Given the description of an element on the screen output the (x, y) to click on. 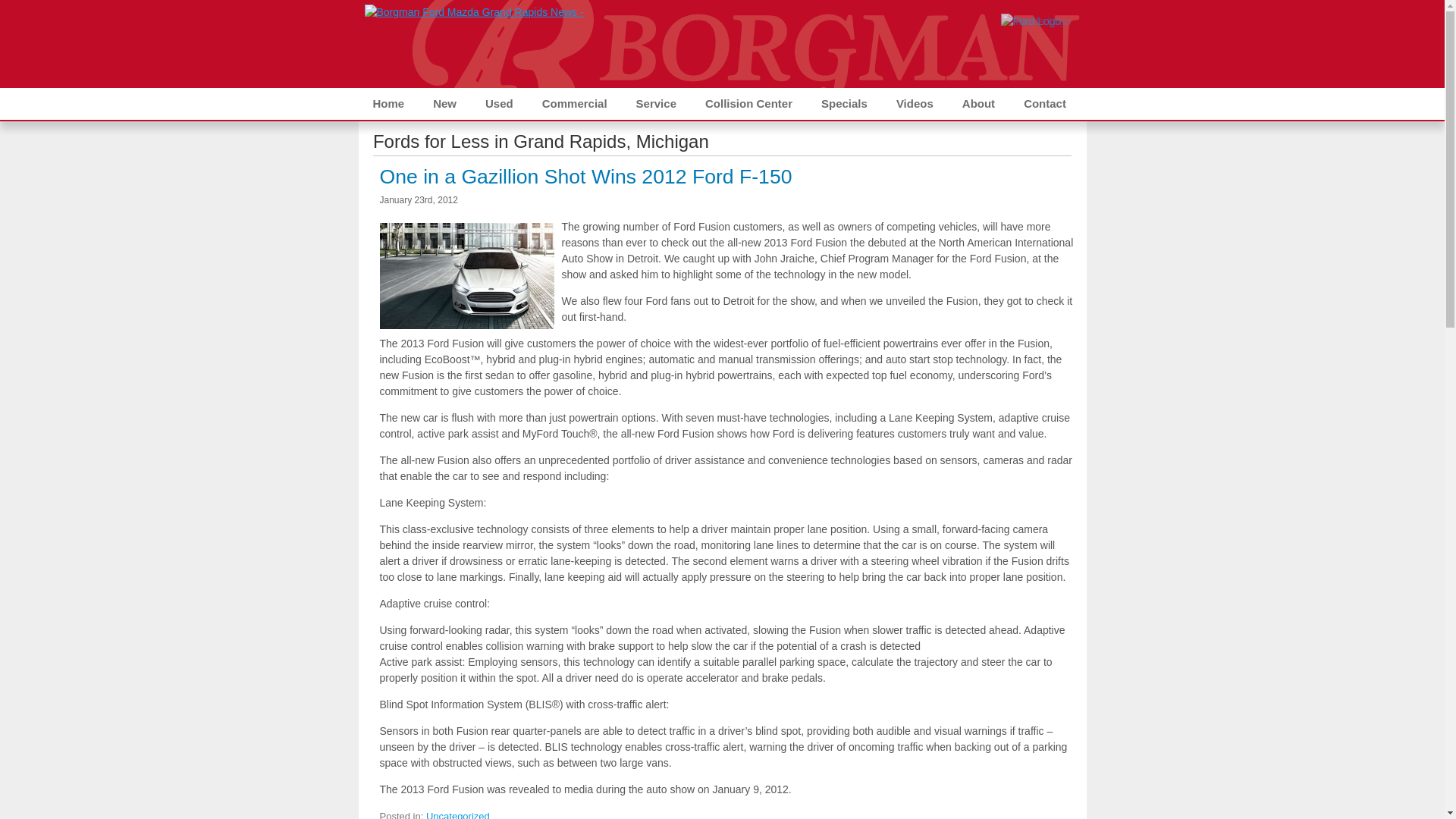
Fords for Less in Grand Rapids, Michigan (540, 141)
Service (655, 103)
first-look-at-the-2013-ford-fusion (465, 276)
Videos (914, 103)
Contact (1044, 103)
Borgman Ford Mazda Grand Rapids News -  (473, 12)
Used (498, 103)
Commercial (574, 103)
Collision Center (748, 103)
Home (388, 103)
New (444, 103)
Uncategorized (457, 814)
About (978, 103)
Specials (844, 103)
